Given the description of an element on the screen output the (x, y) to click on. 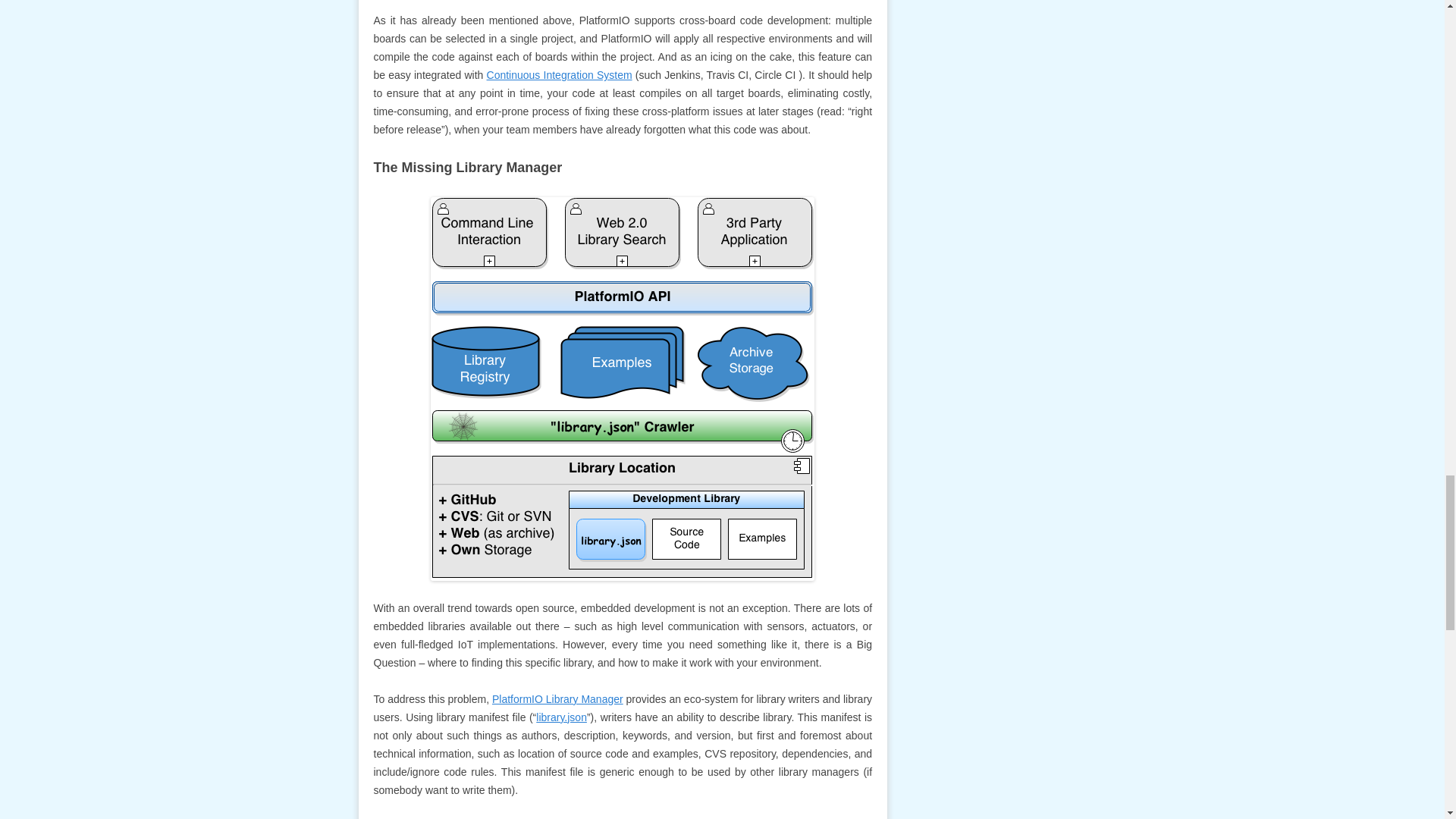
PlatformIO Library Manager (557, 698)
library.json (560, 717)
Continuous Integration System (558, 74)
